Given the description of an element on the screen output the (x, y) to click on. 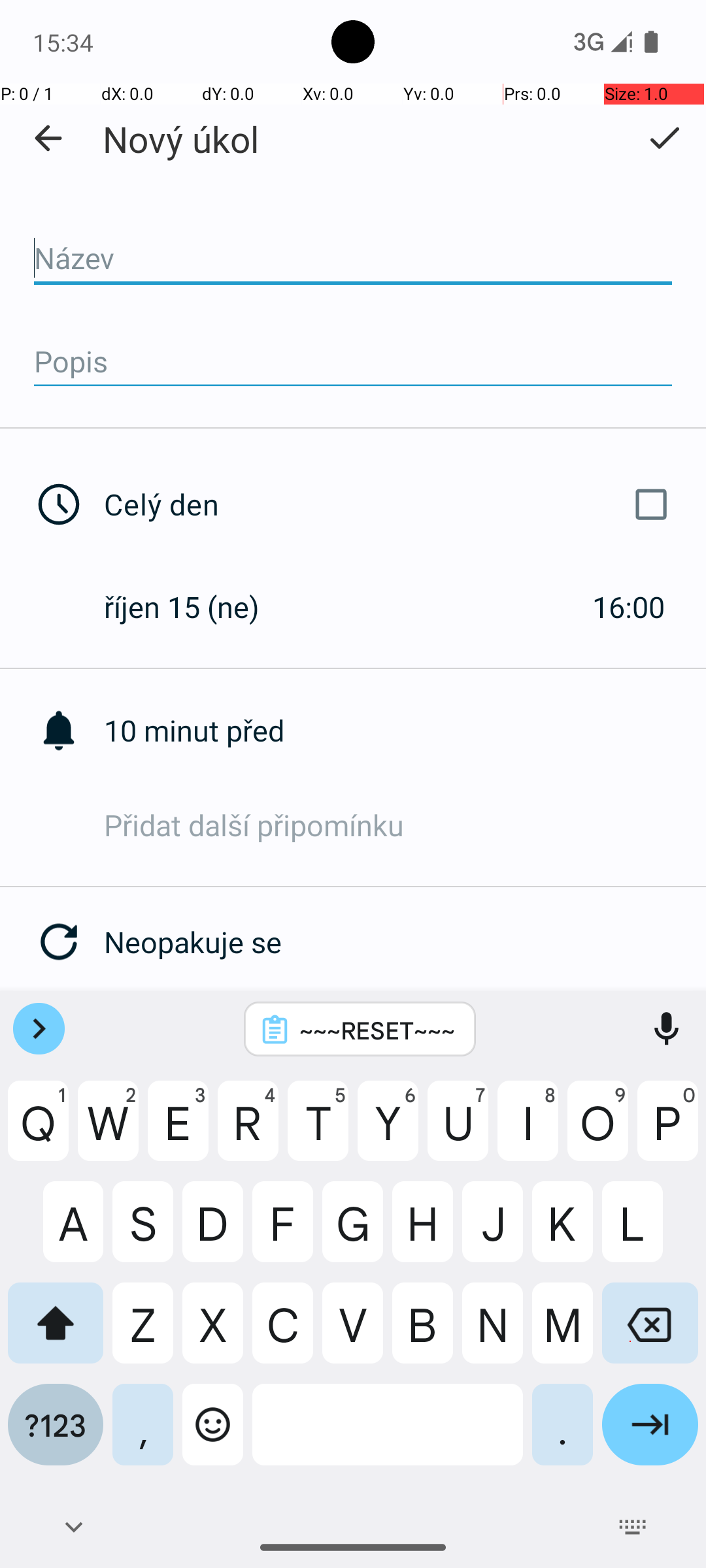
Nový úkol Element type: android.widget.TextView (180, 138)
Uložit Element type: android.widget.Button (664, 137)
Název Element type: android.widget.EditText (352, 258)
Popis Element type: android.widget.EditText (352, 361)
říjen 15 (ne) Element type: android.widget.TextView (194, 606)
10 minut před Element type: android.widget.TextView (404, 729)
Přidat další připomínku Element type: android.widget.TextView (404, 824)
Neopakuje se Element type: android.widget.TextView (404, 941)
Celý den Element type: android.widget.CheckBox (390, 504)
